Given the description of an element on the screen output the (x, y) to click on. 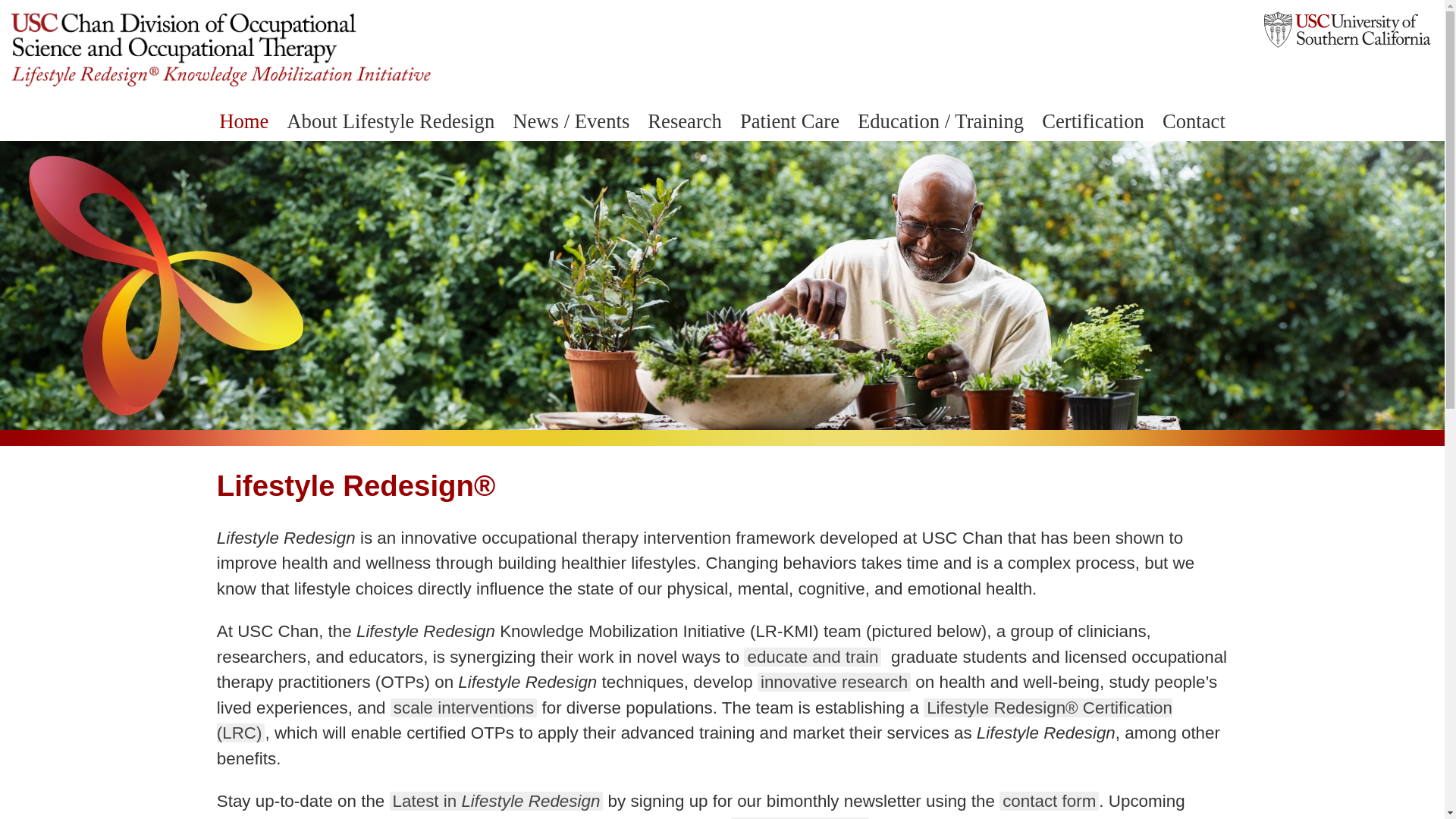
educate and train (812, 656)
Contact (1193, 121)
Research (684, 121)
scale interventions (463, 707)
About Lifestyle Redesign (390, 121)
Latest in Lifestyle Redesign (497, 800)
Certification (1092, 121)
contact form (1048, 800)
Patient Care (789, 121)
Home (243, 121)
News and Events (799, 818)
innovative research (834, 681)
